Given the description of an element on the screen output the (x, y) to click on. 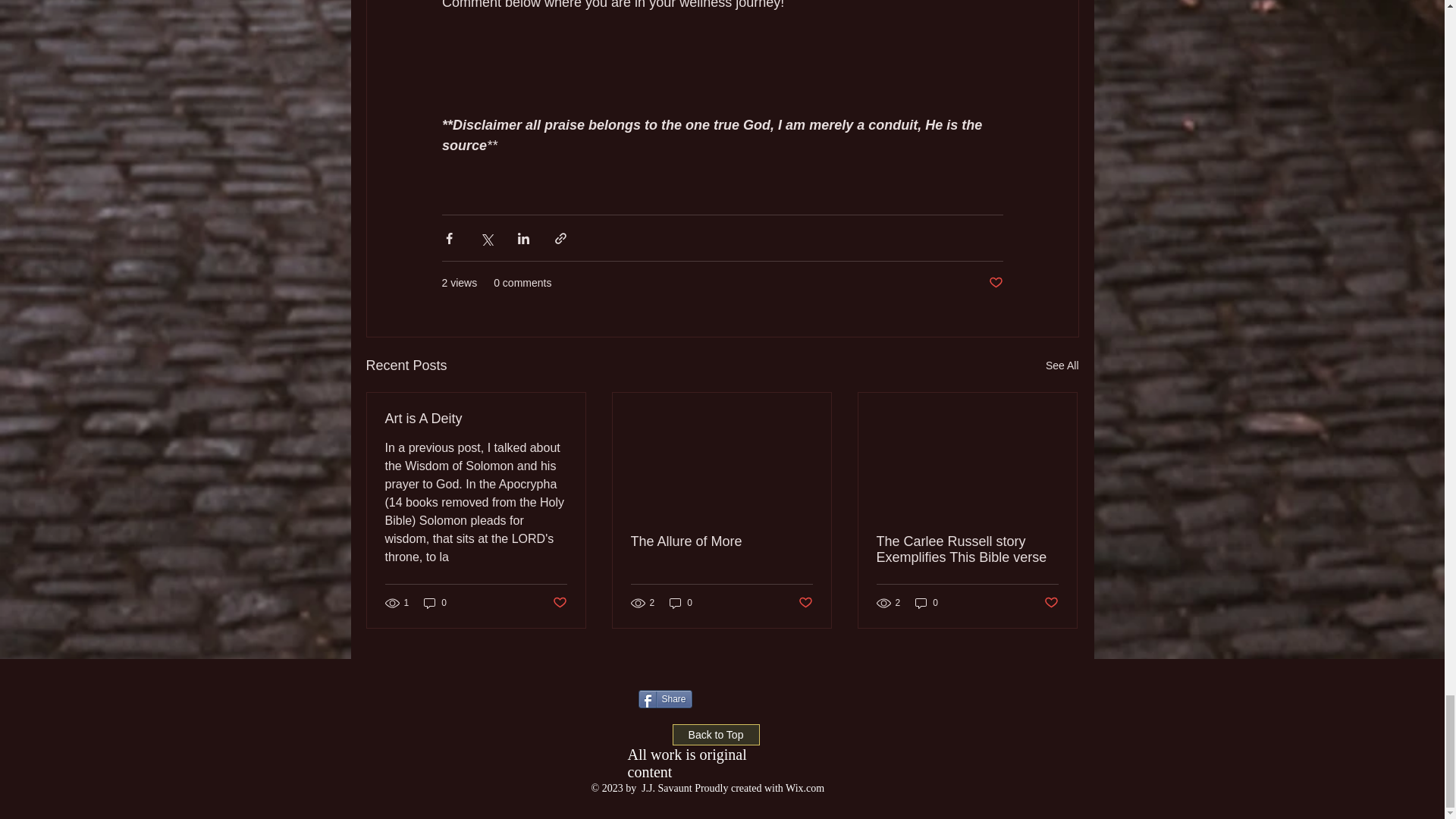
The Allure of More (721, 541)
Post not marked as liked (558, 602)
0 (926, 603)
Art is A Deity (476, 418)
The Carlee Russell story Exemplifies This Bible verse (967, 549)
See All (1061, 365)
Post not marked as liked (804, 602)
Share (666, 699)
Post not marked as liked (995, 283)
0 (681, 603)
Wix.com (805, 787)
Post not marked as liked (1050, 602)
Back to Top (714, 734)
0 (435, 603)
Share (666, 699)
